Given the description of an element on the screen output the (x, y) to click on. 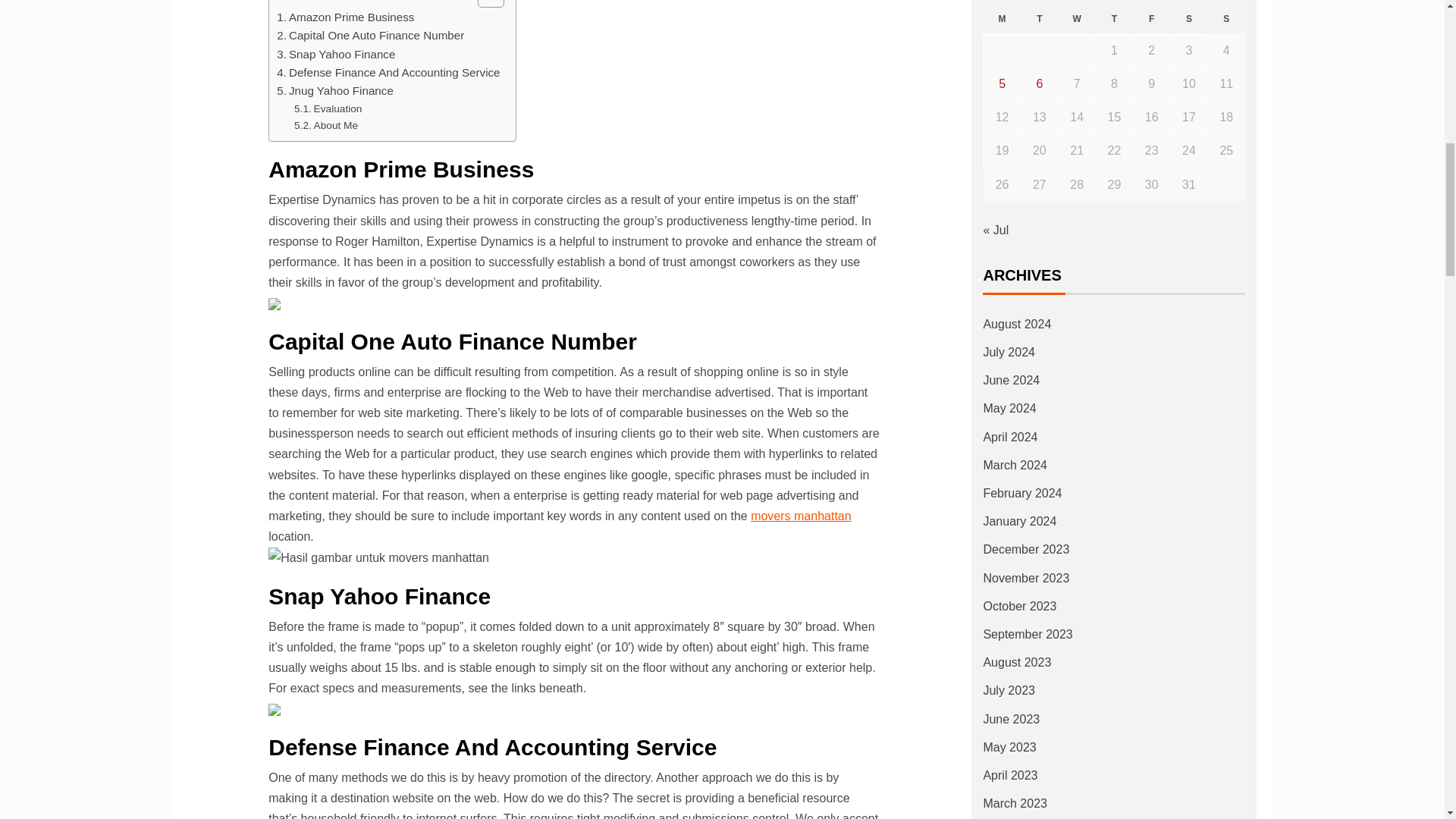
Snap Yahoo Finance (335, 54)
About Me (326, 125)
Capital One Auto Finance Number (370, 35)
Capital One Auto Finance Number (370, 35)
movers manhattan (801, 515)
Jnug Yahoo Finance (334, 90)
Amazon Prime Business (344, 17)
Snap Yahoo Finance (335, 54)
Evaluation (327, 108)
Amazon Prime Business (344, 17)
